Given the description of an element on the screen output the (x, y) to click on. 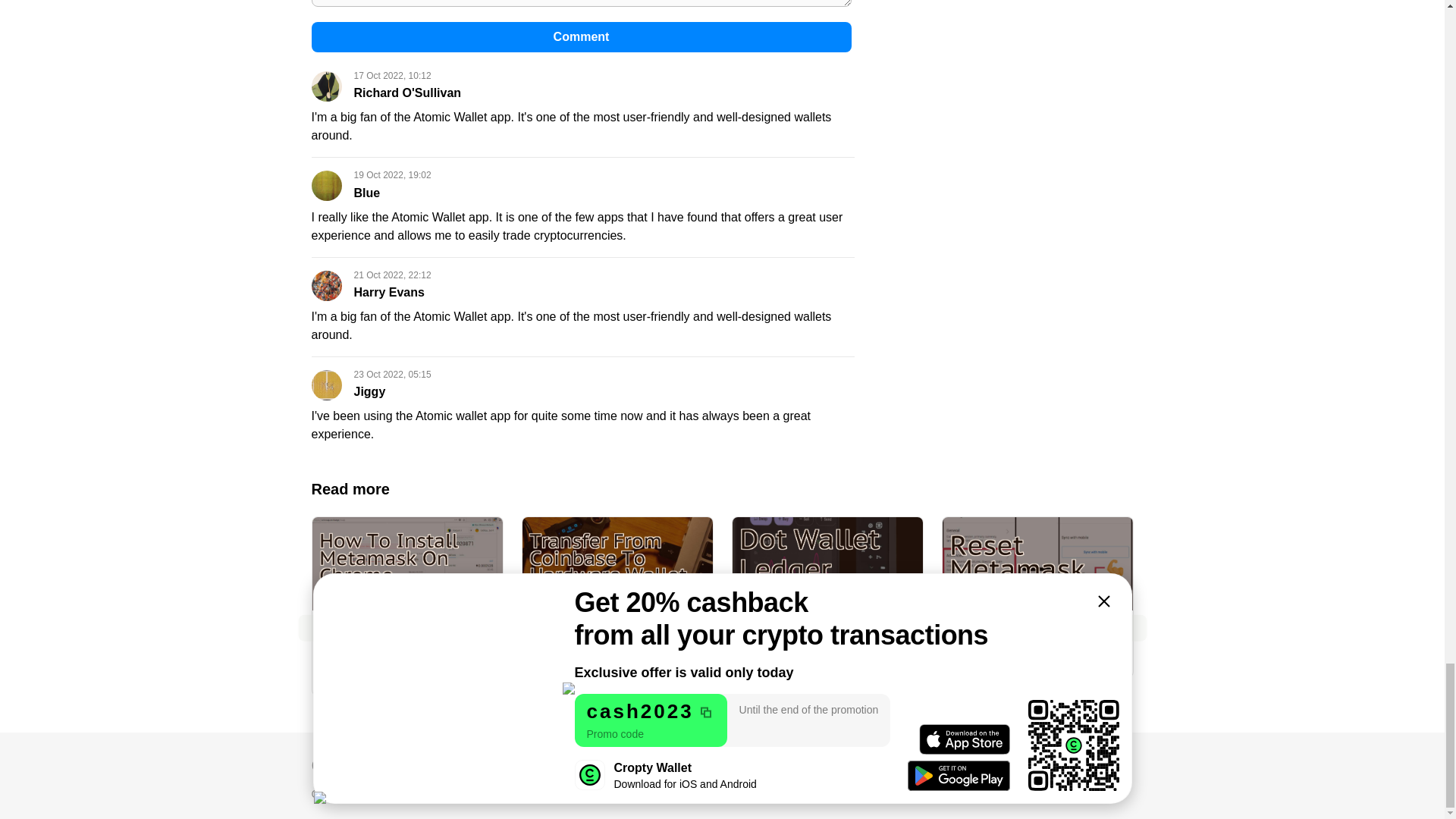
How To Install Metamask On Chrome (407, 590)
Transfer From Coinbase To Hardware Wallet (616, 599)
Comment (580, 37)
